Given the description of an element on the screen output the (x, y) to click on. 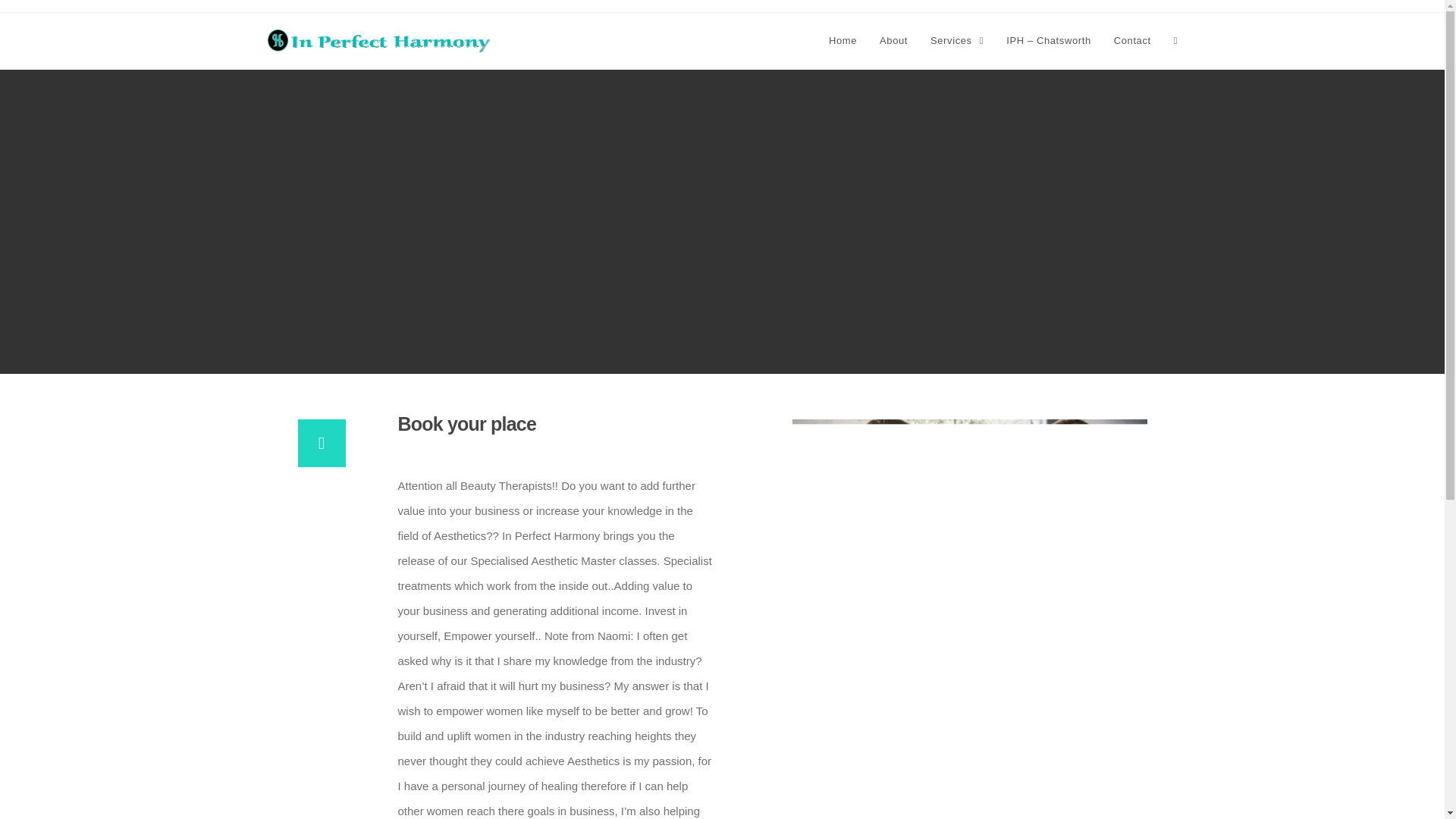
Contact (1131, 40)
Services (956, 40)
About (892, 40)
Home (841, 40)
